Given the description of an element on the screen output the (x, y) to click on. 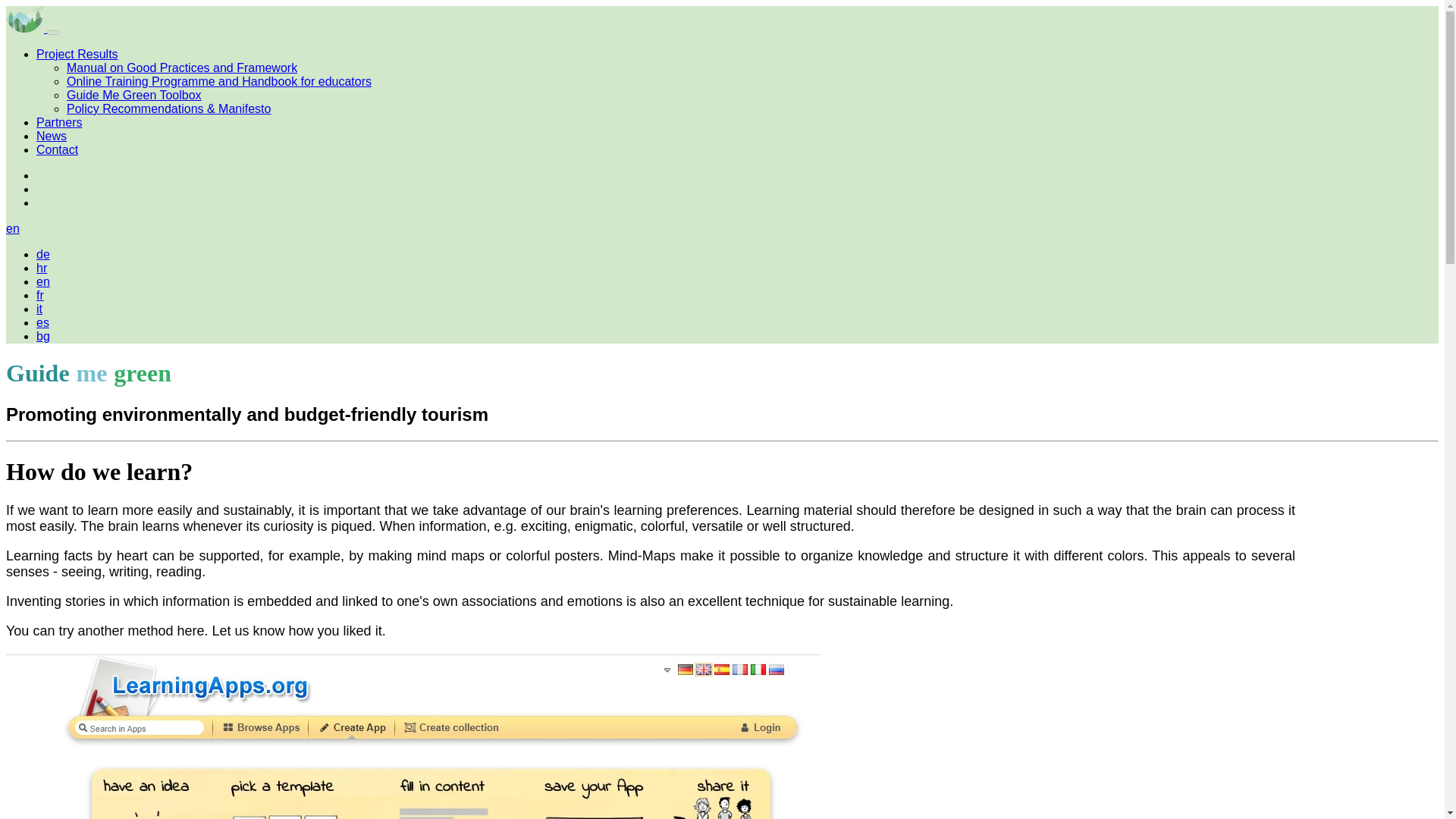
Partners (58, 122)
Online Training Programme and Handbook for educators (218, 81)
de (42, 254)
bg (42, 336)
es (42, 322)
News (51, 135)
Project Results (76, 53)
en (12, 228)
Contact (57, 149)
en (42, 281)
